Given the description of an element on the screen output the (x, y) to click on. 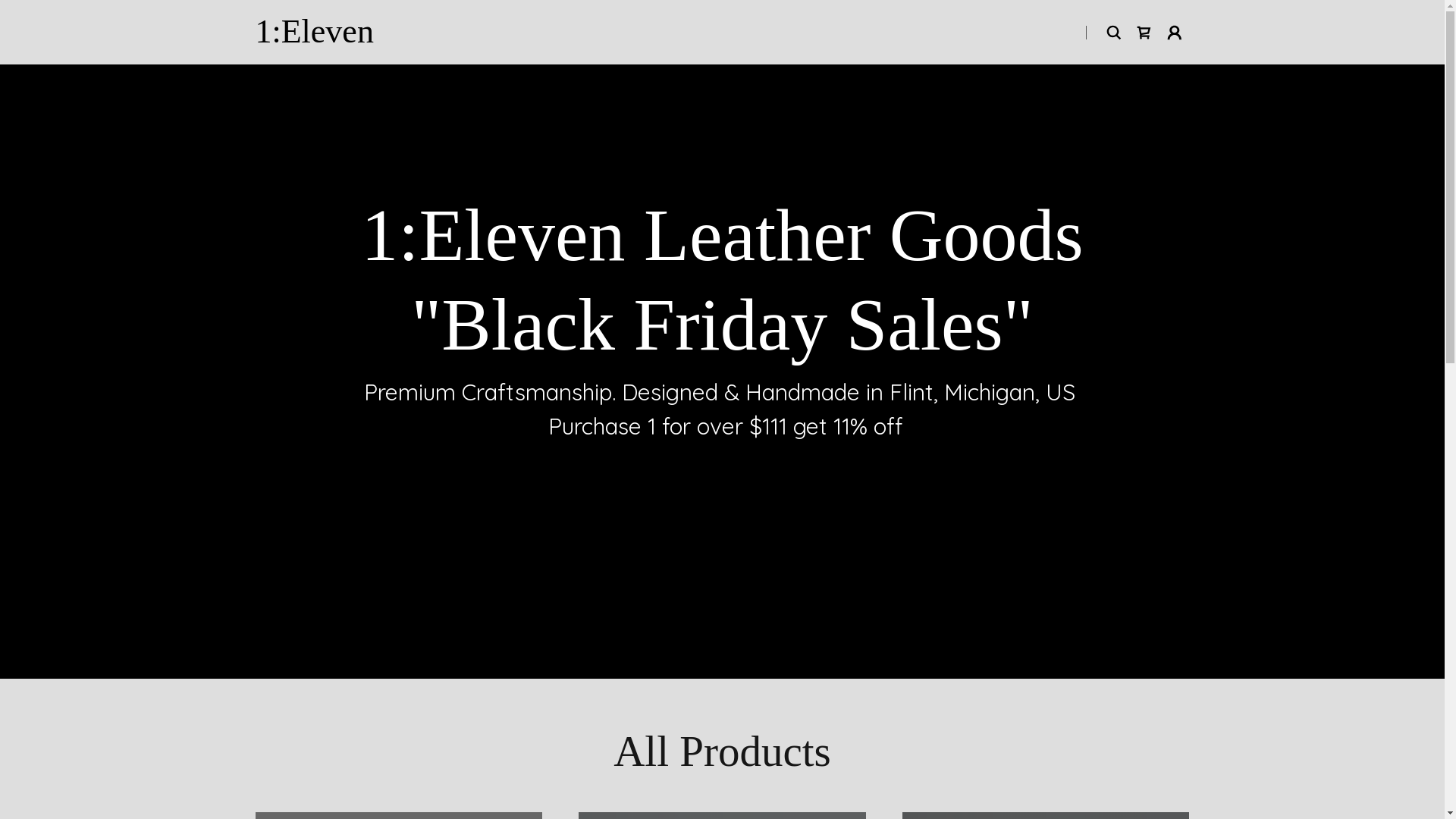
1:Eleven Element type: text (313, 37)
